Given the description of an element on the screen output the (x, y) to click on. 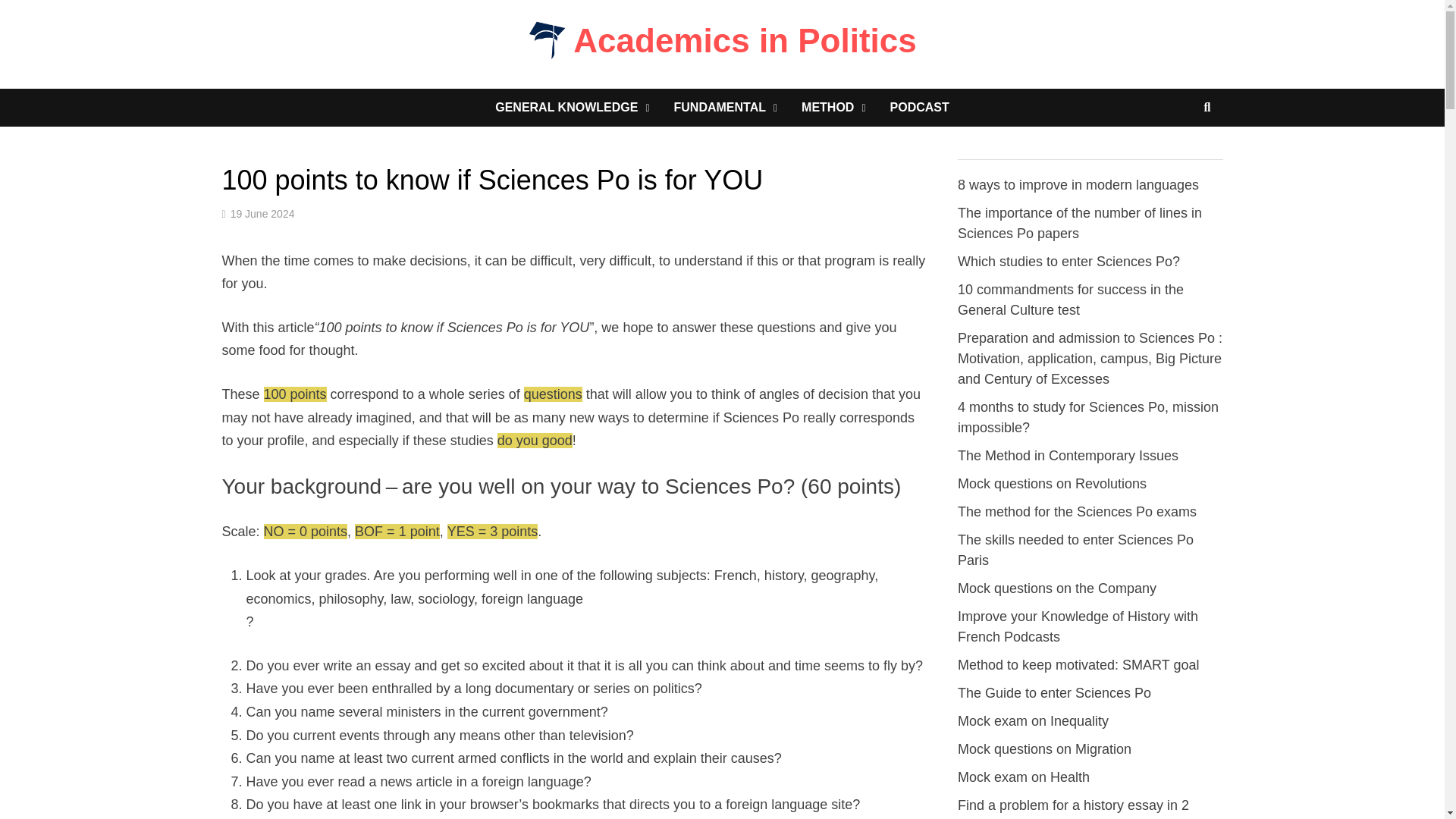
FUNDAMENTAL (725, 107)
19 June 2024 (262, 214)
METHOD (833, 107)
Academics in Politics (744, 40)
PODCAST (918, 107)
GENERAL KNOWLEDGE (572, 107)
